Given the description of an element on the screen output the (x, y) to click on. 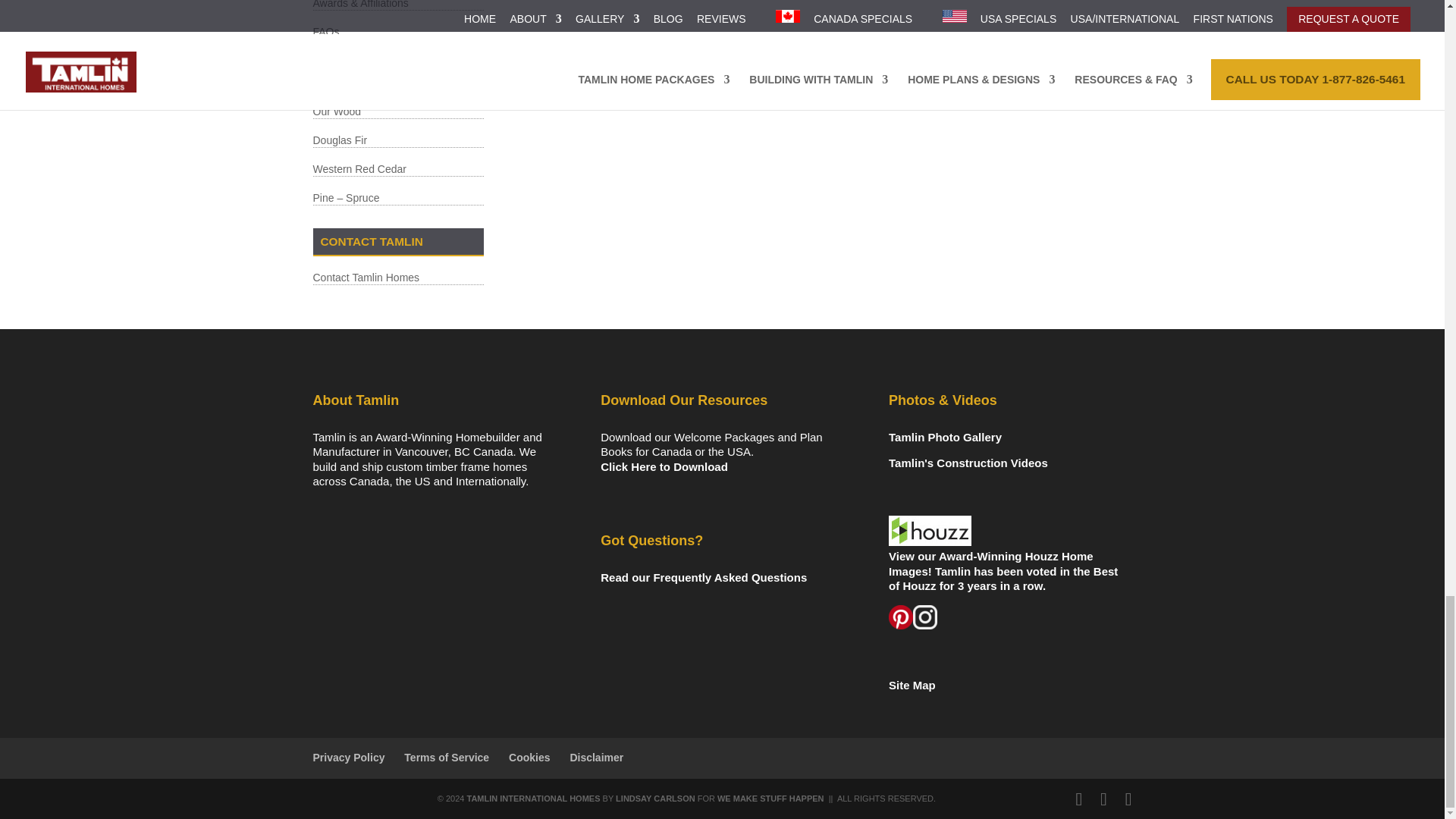
Tamlin on Houzz (929, 530)
